Given the description of an element on the screen output the (x, y) to click on. 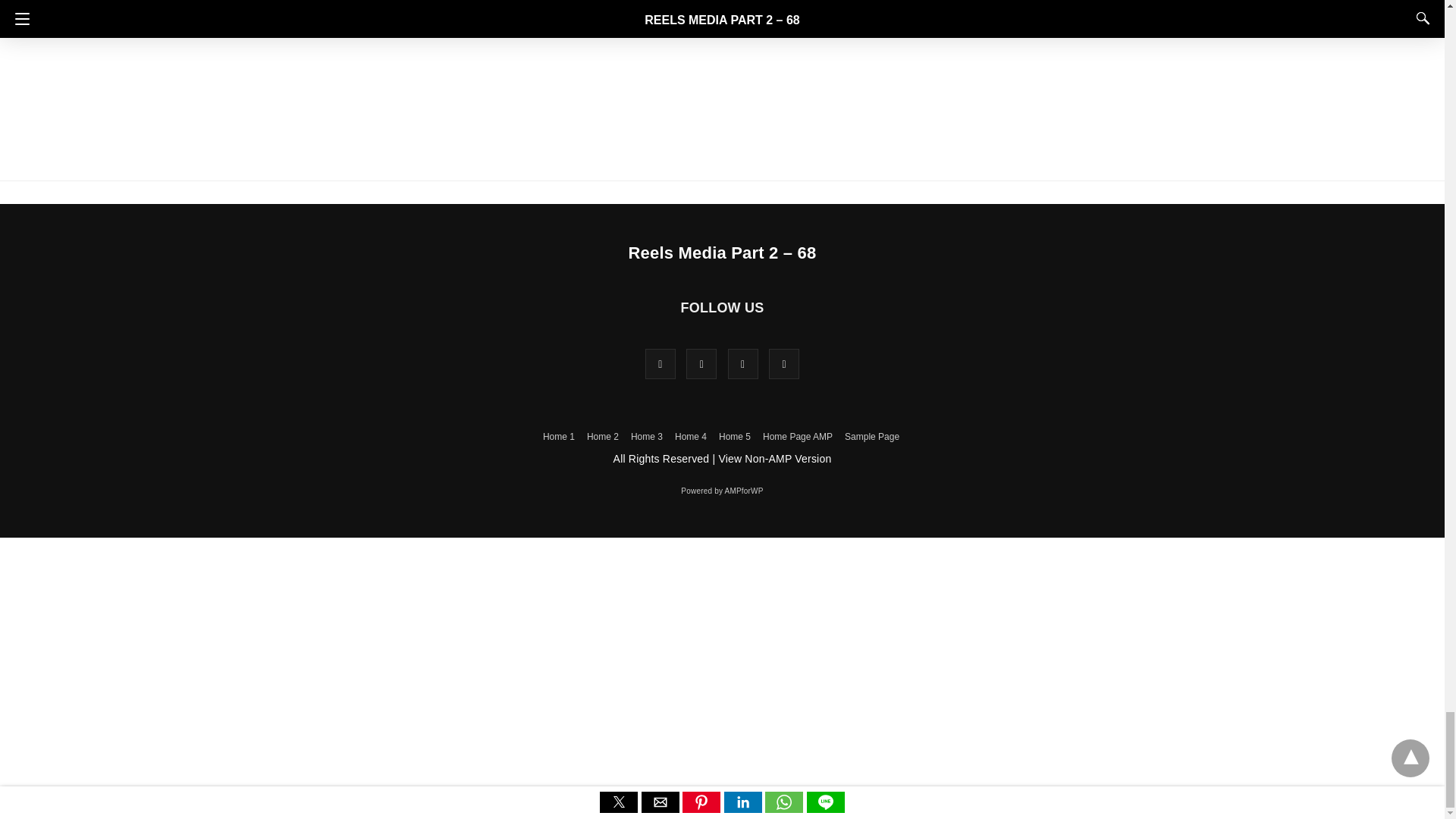
Powered by AMPforWP (721, 490)
Home 5 (735, 436)
Home 3 (646, 436)
View Non-AMP Version (774, 458)
Home 2 (602, 436)
Home 1 (559, 436)
Home Page AMP (797, 436)
Sample Page (871, 436)
Home 4 (690, 436)
